Given the description of an element on the screen output the (x, y) to click on. 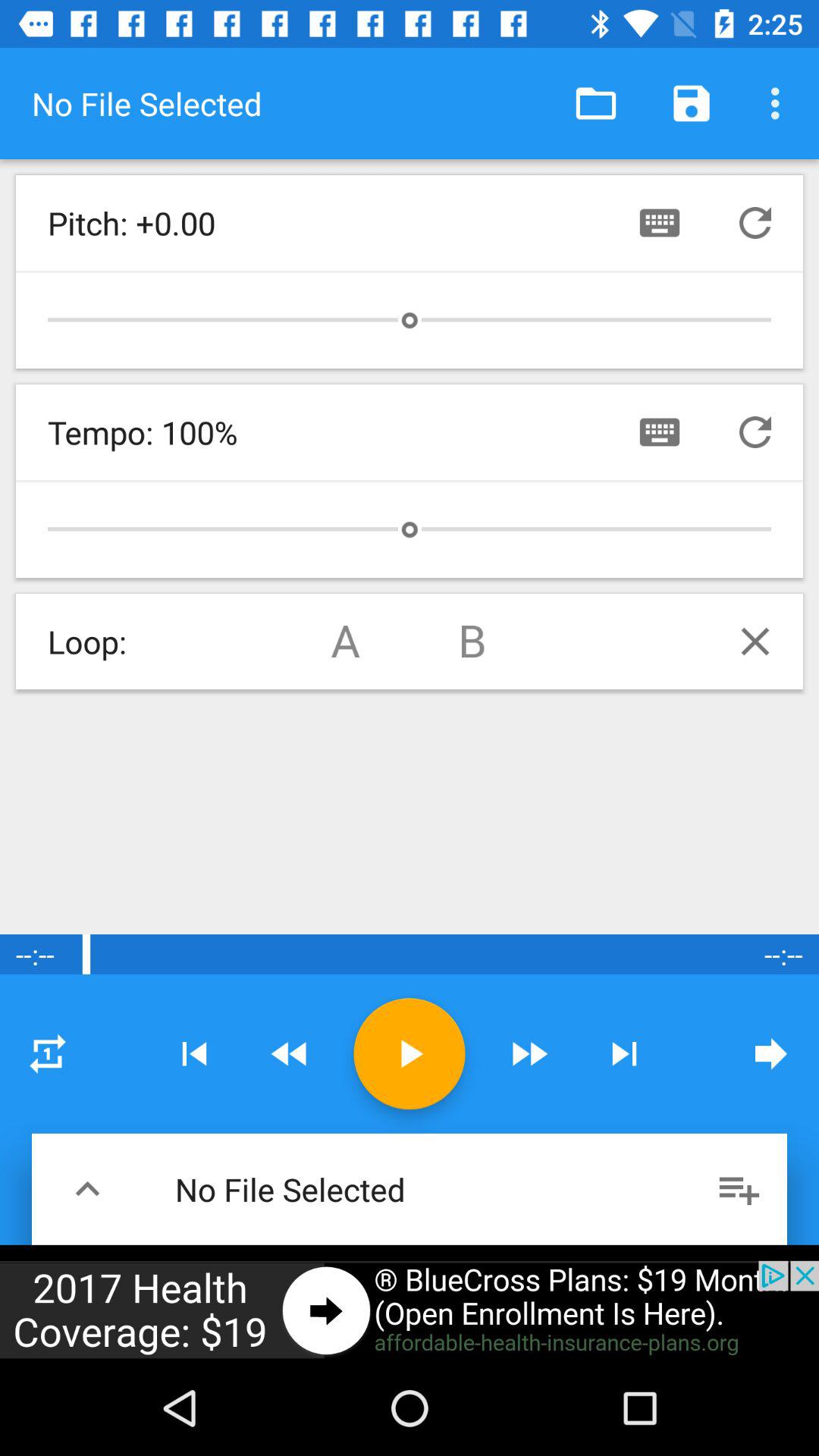
select option (47, 1053)
